Given the description of an element on the screen output the (x, y) to click on. 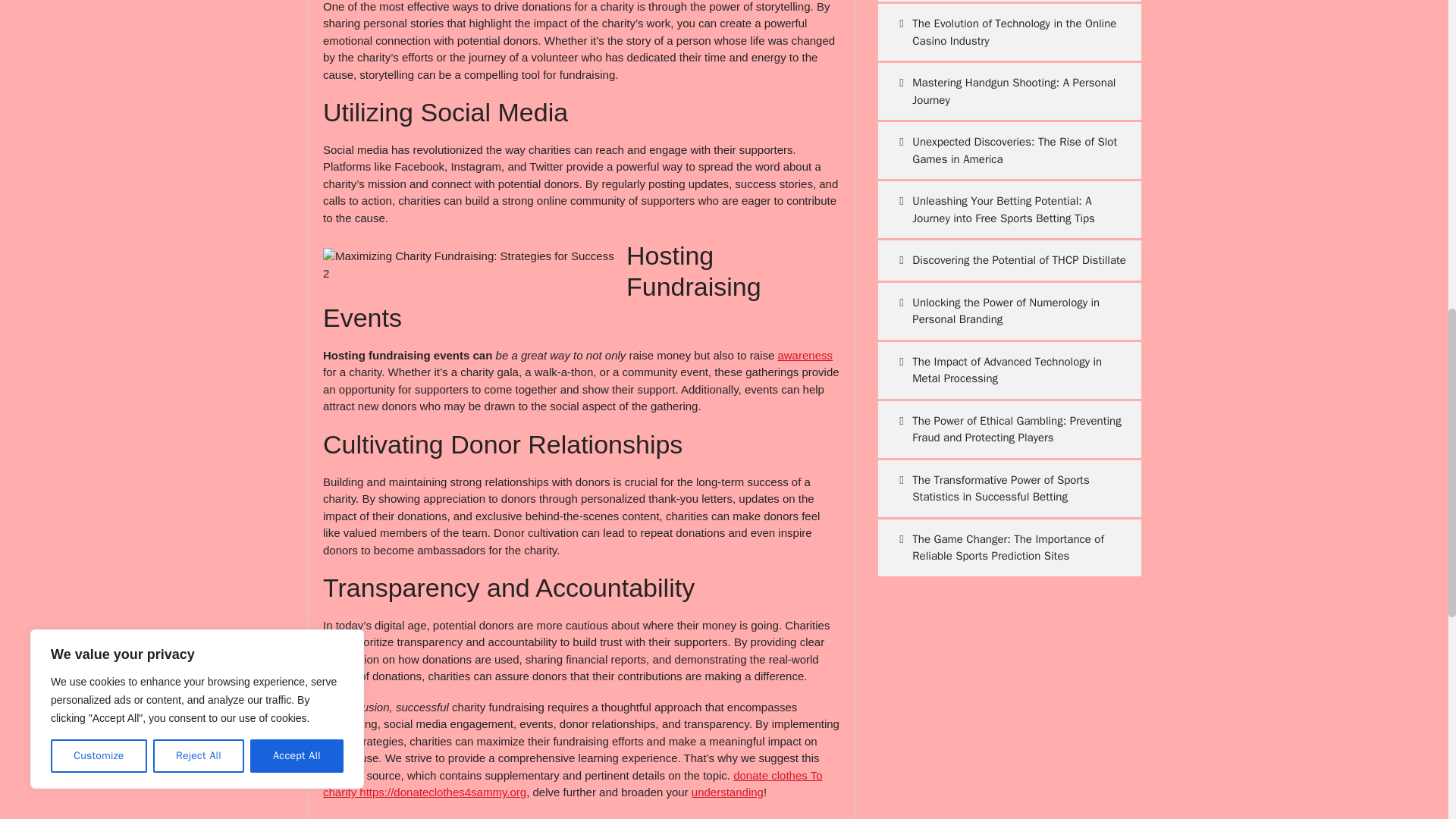
awareness (804, 354)
understanding (726, 791)
